Given the description of an element on the screen output the (x, y) to click on. 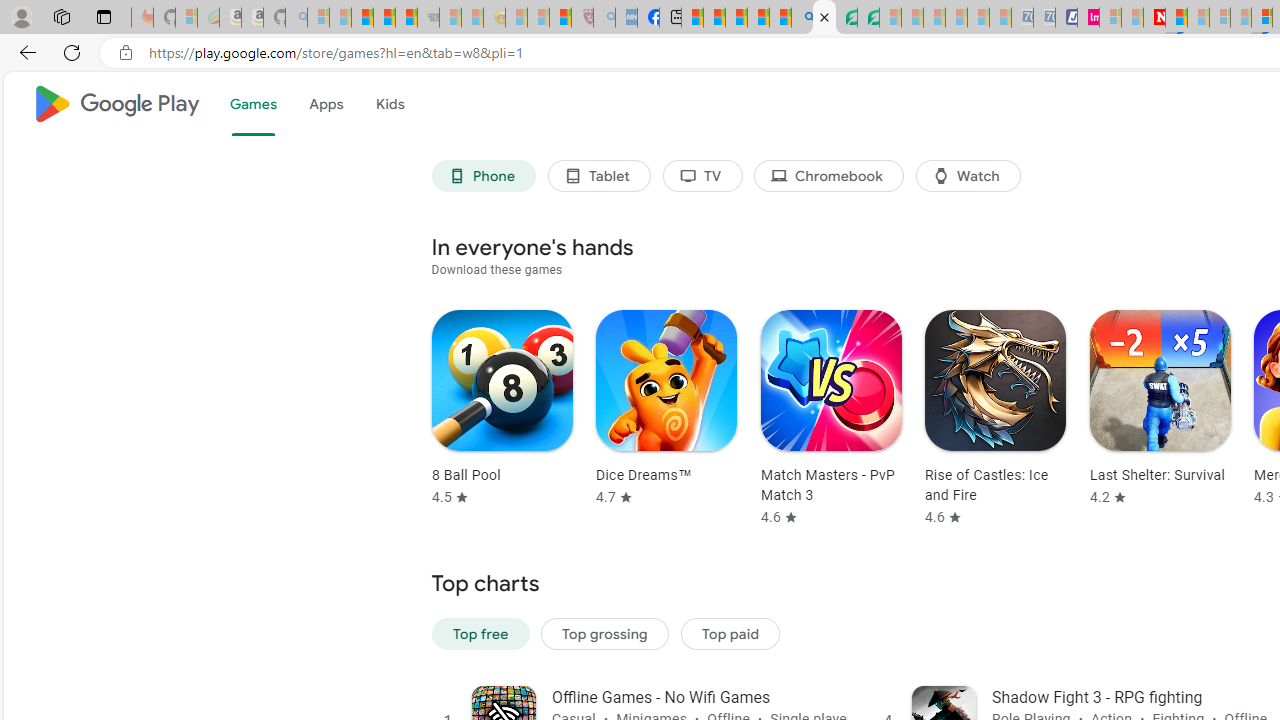
NCL Adult Asthma Inhaler Choice Guideline - Sleeping (626, 17)
Phone (483, 175)
Top free (480, 633)
Latest Politics News & Archive | Newsweek.com (1154, 17)
MSNBC - MSN (692, 17)
Local - MSN (560, 17)
Top grossing (605, 633)
